Given the description of an element on the screen output the (x, y) to click on. 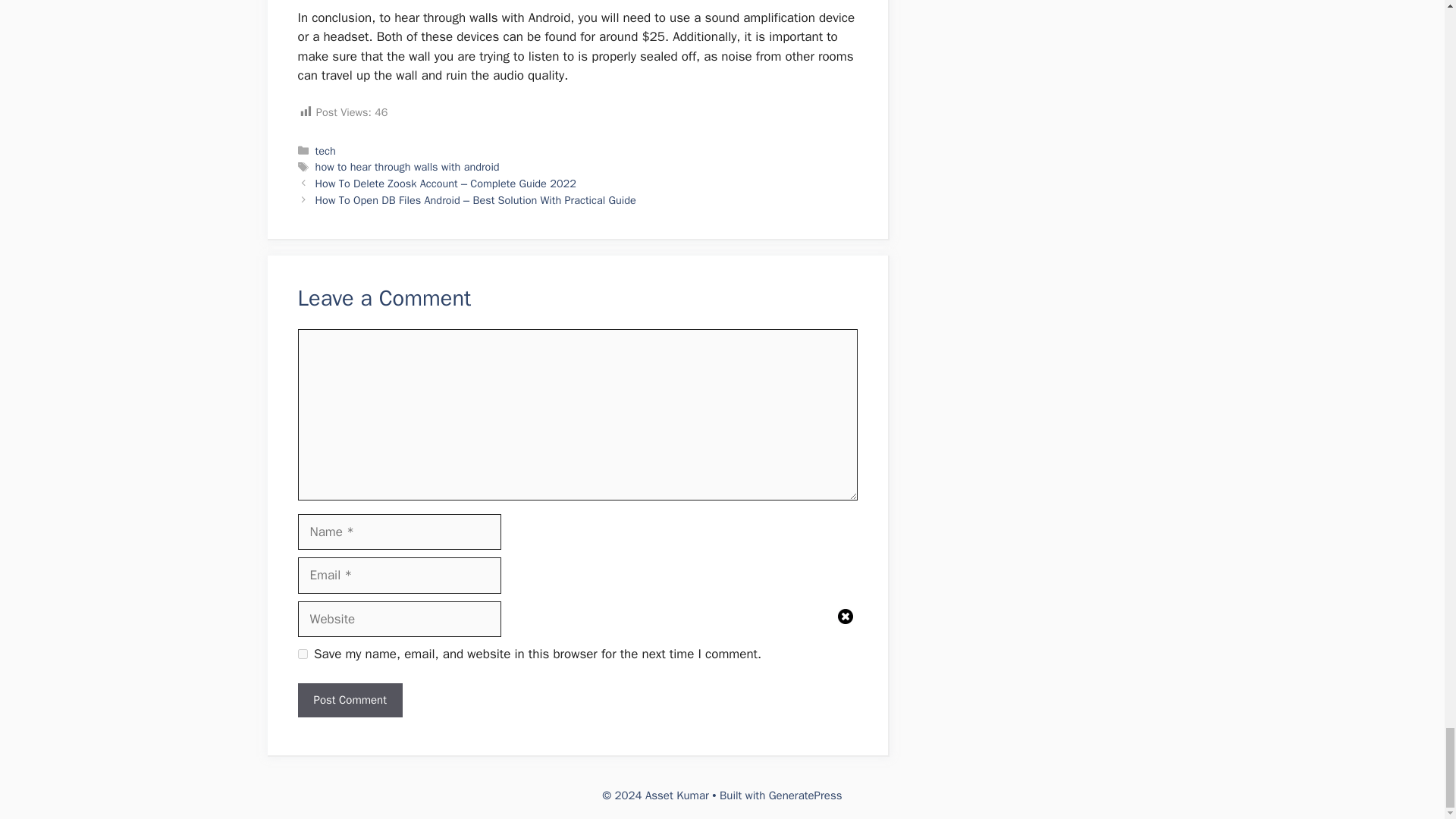
tech (325, 151)
Post Comment (349, 700)
yes (302, 654)
how to hear through walls with android (407, 166)
Post Comment (349, 700)
GeneratePress (805, 795)
